Given the description of an element on the screen output the (x, y) to click on. 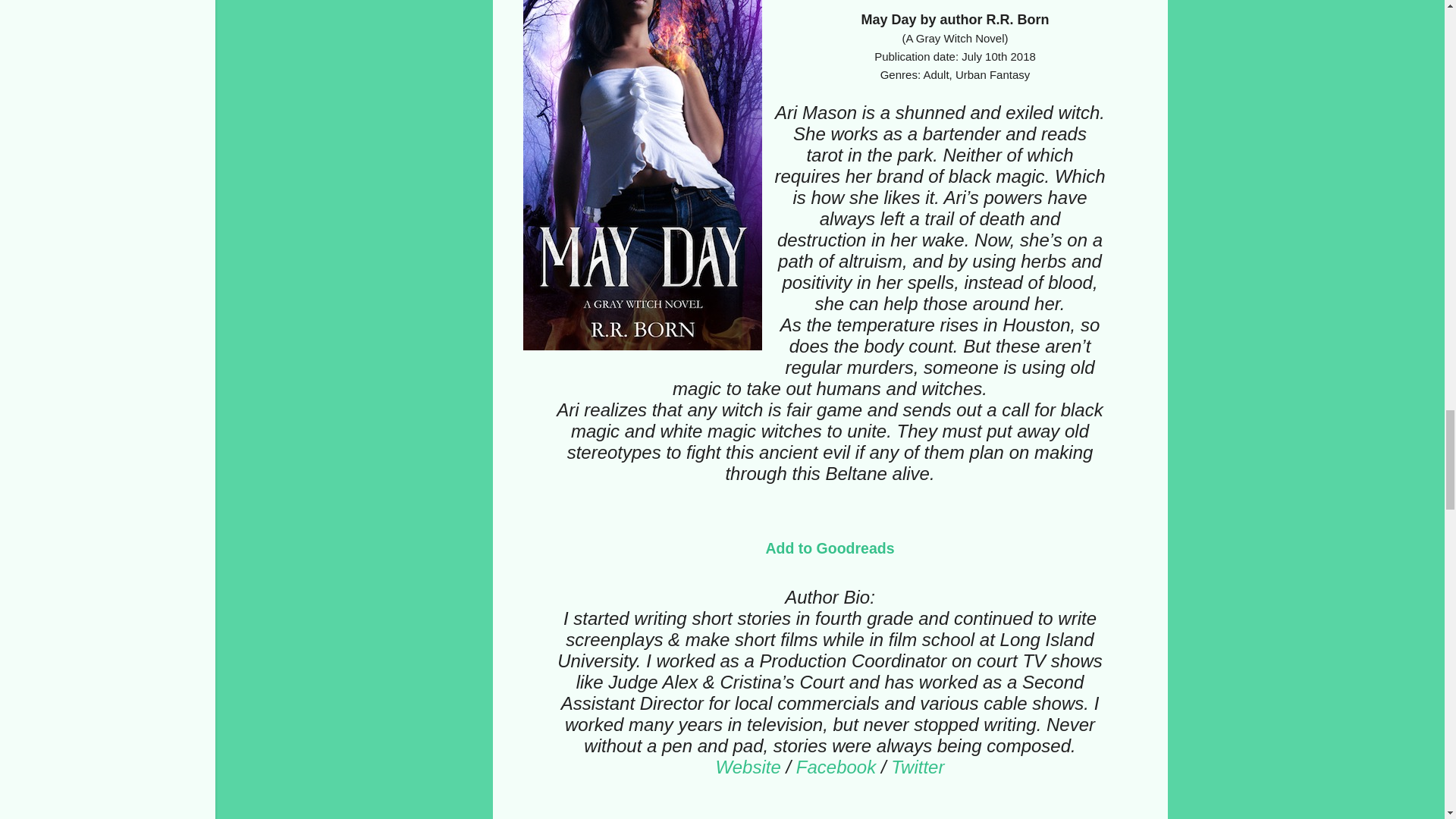
Add to Goodreads (829, 547)
Twitter (917, 766)
Website (748, 766)
Facebook (836, 766)
